Given the description of an element on the screen output the (x, y) to click on. 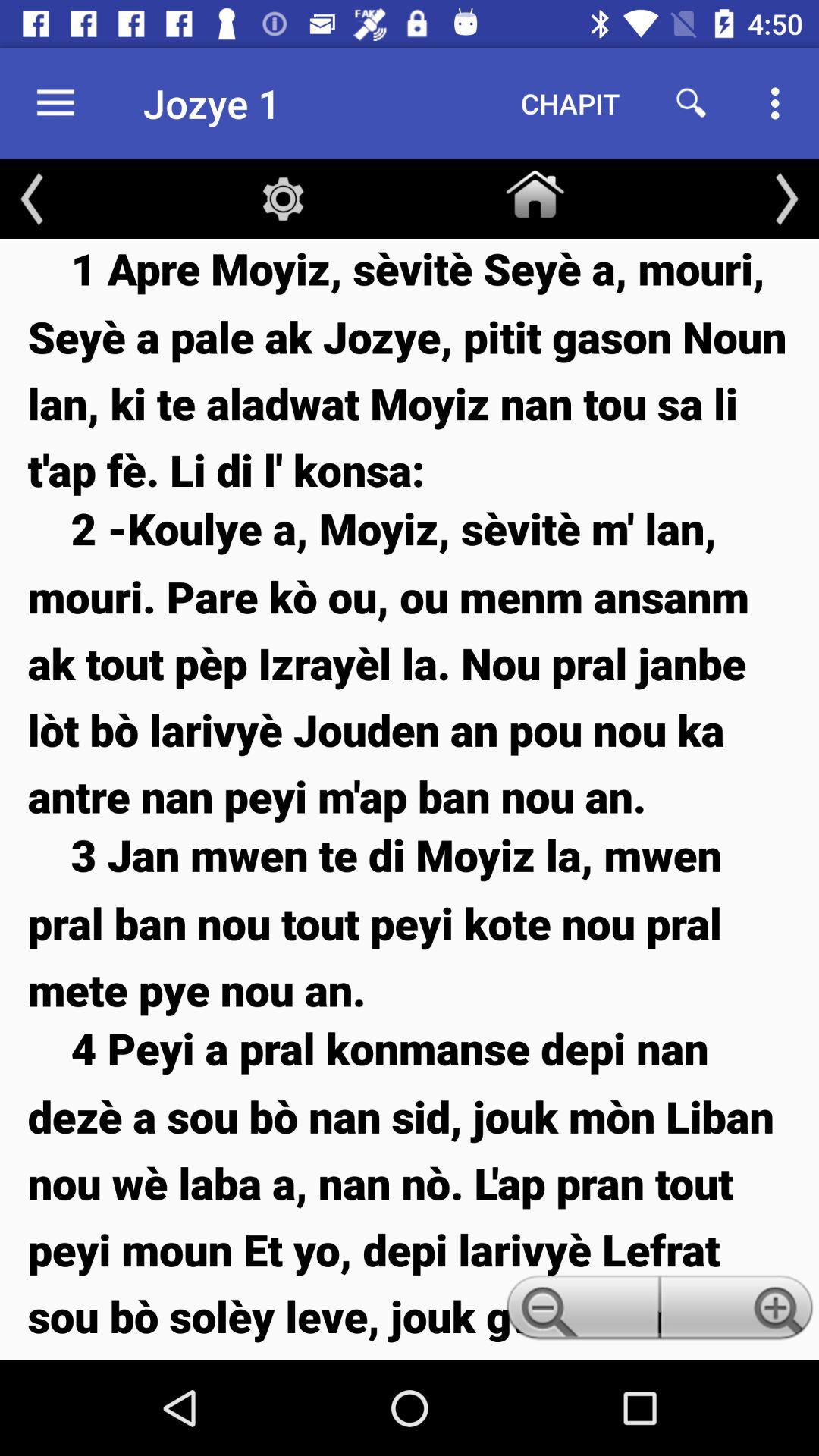
press the icon below 1 apre moyiz item (409, 661)
